Given the description of an element on the screen output the (x, y) to click on. 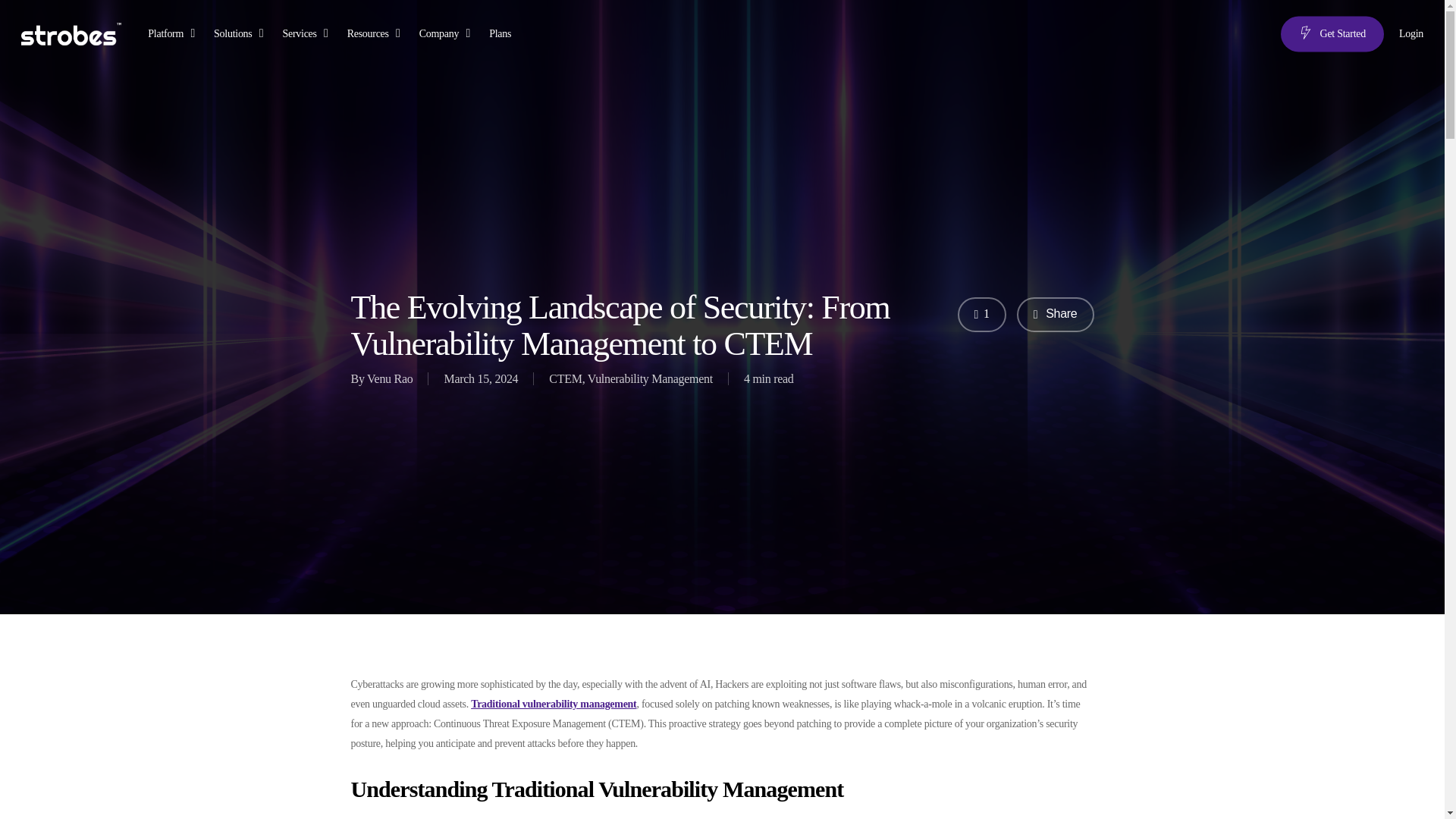
Posts by Venu Rao (389, 378)
Platform (173, 33)
Company (446, 33)
Solutions (240, 33)
Resources (375, 33)
Love this (982, 314)
Services (306, 33)
